Given the description of an element on the screen output the (x, y) to click on. 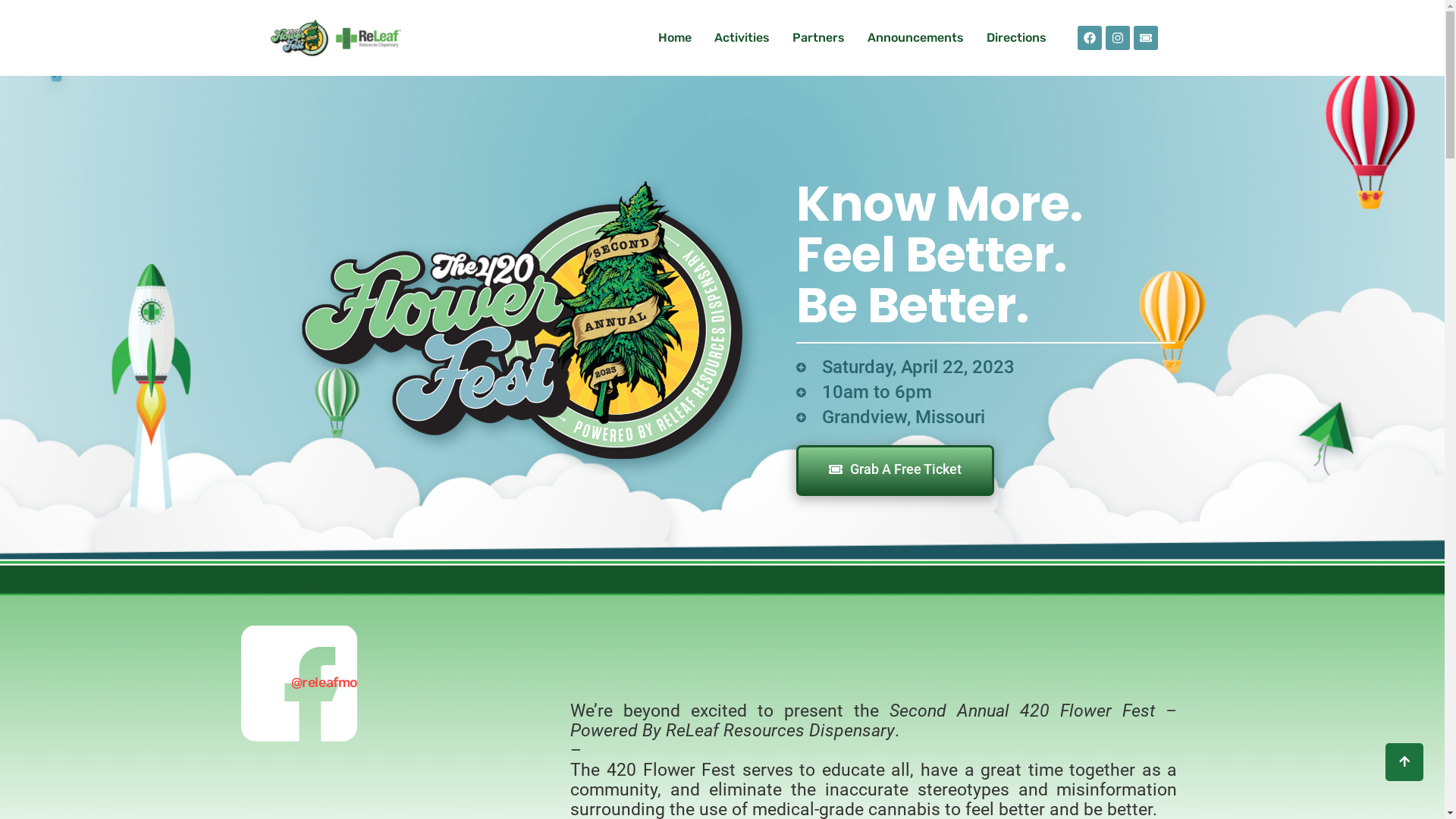
Activities Element type: text (741, 37)
Grab A Free Ticket Element type: text (895, 470)
Home Element type: text (674, 37)
Announcements Element type: text (915, 37)
Partners Element type: text (818, 37)
Directions Element type: text (1016, 37)
